Given the description of an element on the screen output the (x, y) to click on. 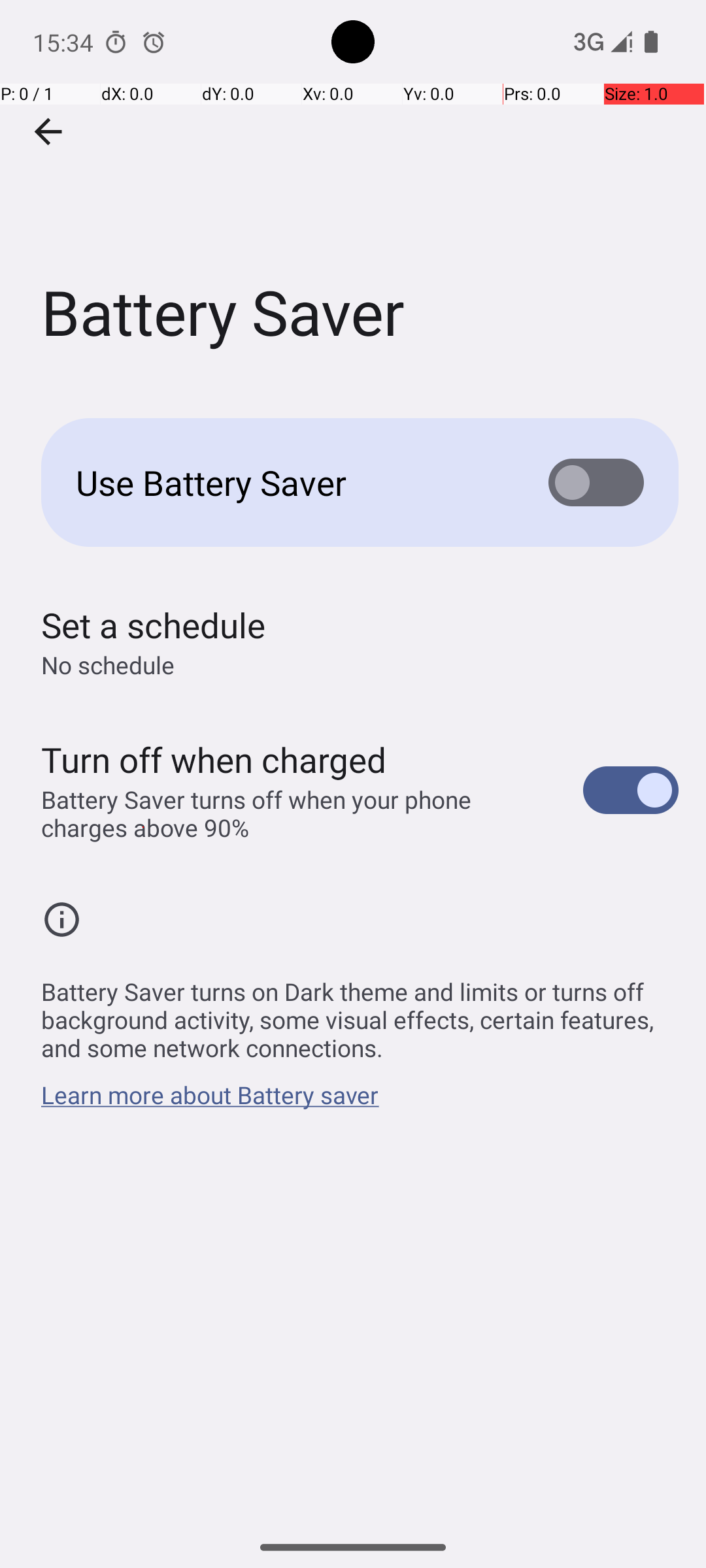
Use Battery Saver Element type: android.widget.TextView (291, 482)
Turn off when charged Element type: android.widget.TextView (213, 759)
Battery Saver turns off when your phone charges above 90% Element type: android.widget.TextView (298, 813)
Battery Saver turns on Dark theme and limits or turns off background activity, some visual effects, certain features, and some network connections. Element type: android.widget.TextView (359, 1012)
Learn more about Battery saver Element type: android.widget.TextView (210, 1101)
